Given the description of an element on the screen output the (x, y) to click on. 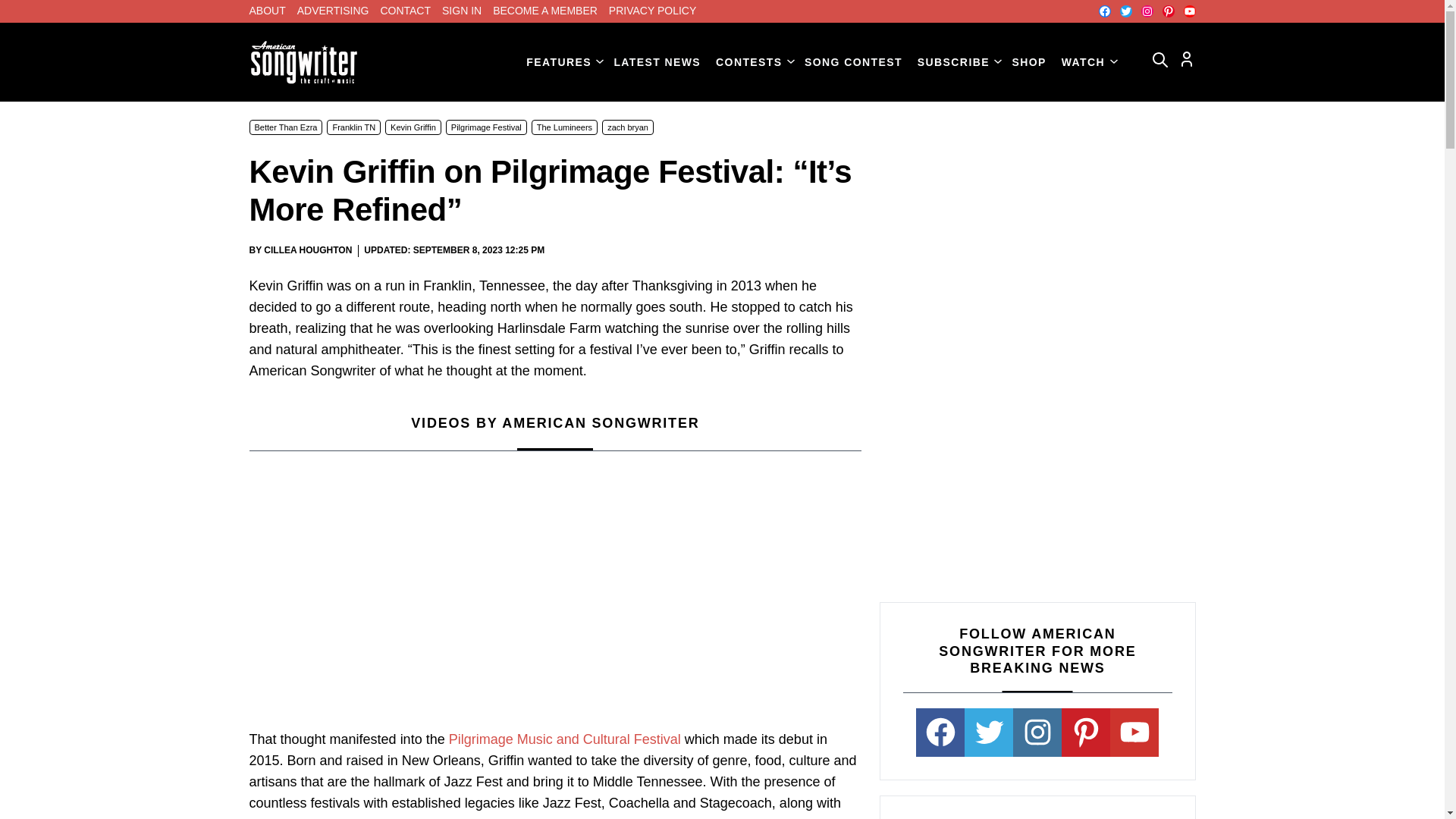
BECOME A MEMBER (544, 10)
ADVERTISING (333, 10)
Instagram (1146, 10)
PRIVACY POLICY (651, 10)
Posts by Cillea Houghton (307, 249)
YouTube (1188, 10)
September 8, 2023 12:25 pm (478, 250)
ABOUT (266, 10)
CONTACT (405, 10)
SIGN IN (461, 10)
